Given the description of an element on the screen output the (x, y) to click on. 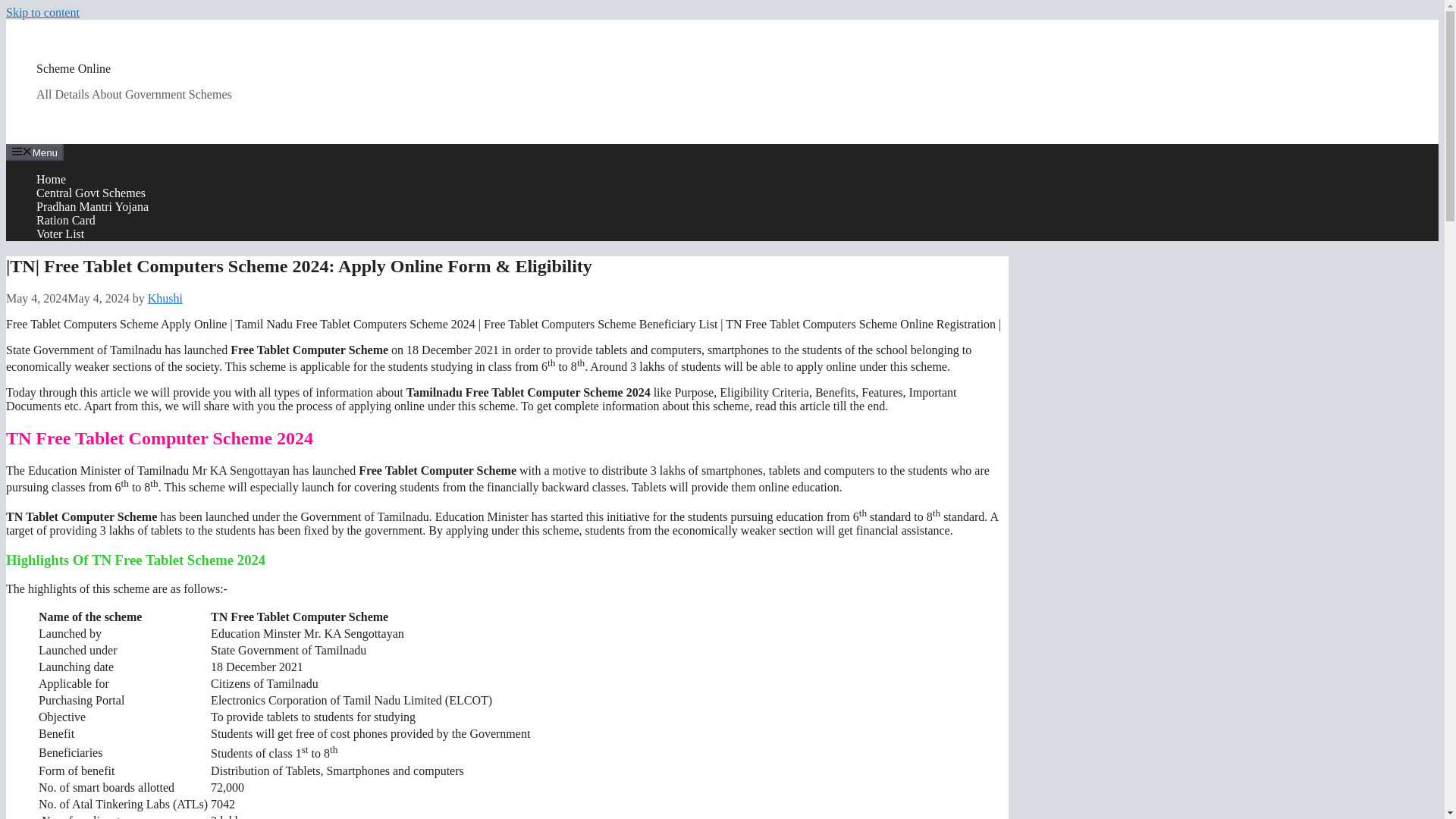
Central Govt Schemes (90, 192)
Skip to content (42, 11)
Skip to content (42, 11)
Khushi (165, 297)
Home (50, 178)
Ration Card (66, 219)
Pradhan Mantri Yojana (92, 205)
Menu (34, 152)
Scheme Online (73, 68)
View all posts by Khushi (165, 297)
